Given the description of an element on the screen output the (x, y) to click on. 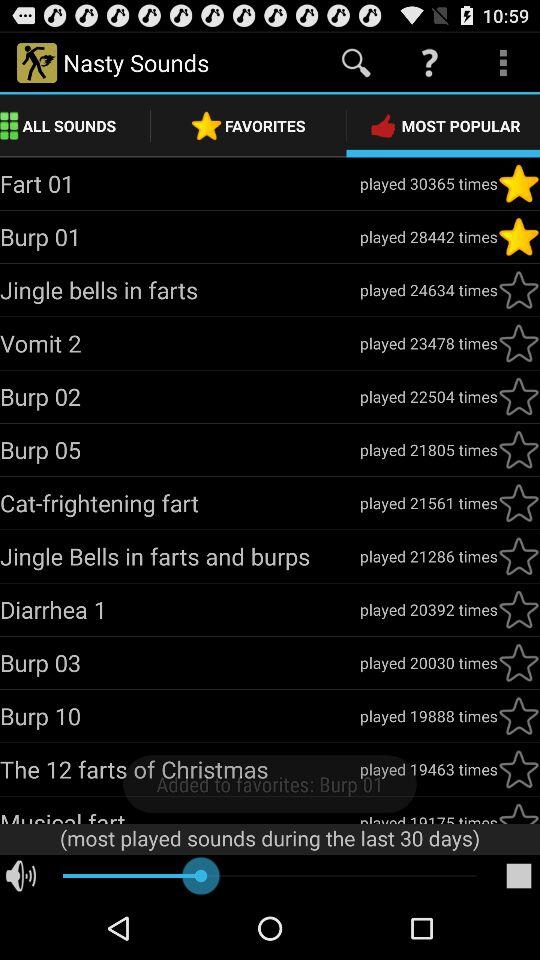
click like (519, 183)
